Given the description of an element on the screen output the (x, y) to click on. 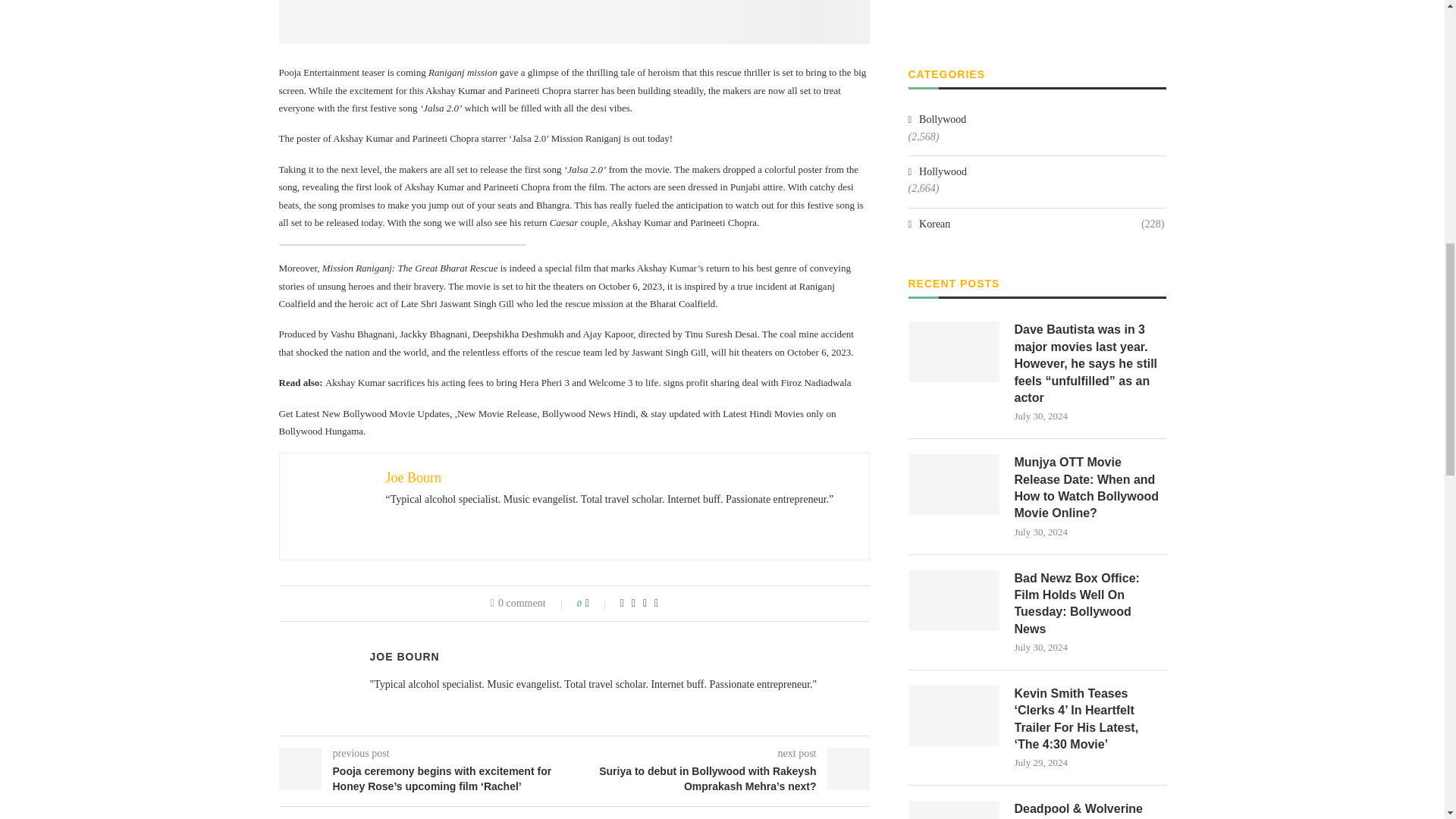
Like (597, 603)
JOE BOURN (404, 656)
Joe Bourn (413, 477)
Author Joe Bourn (404, 656)
